Given the description of an element on the screen output the (x, y) to click on. 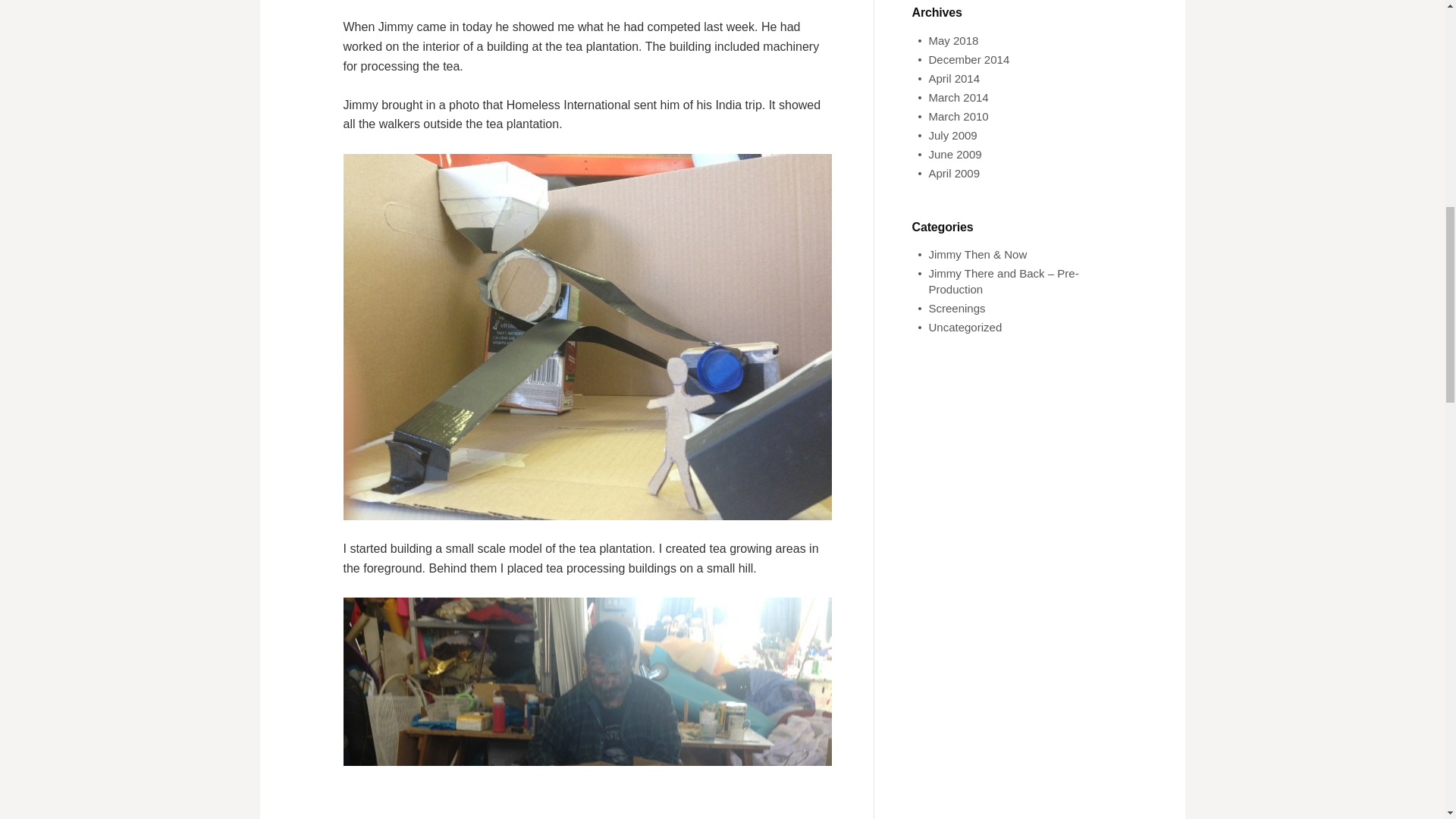
May 2018 (953, 40)
June 2009 (954, 154)
December 2014 (968, 59)
April 2009 (953, 173)
March 2010 (958, 115)
March 2014 (958, 97)
July 2009 (952, 134)
April 2014 (953, 78)
